Given the description of an element on the screen output the (x, y) to click on. 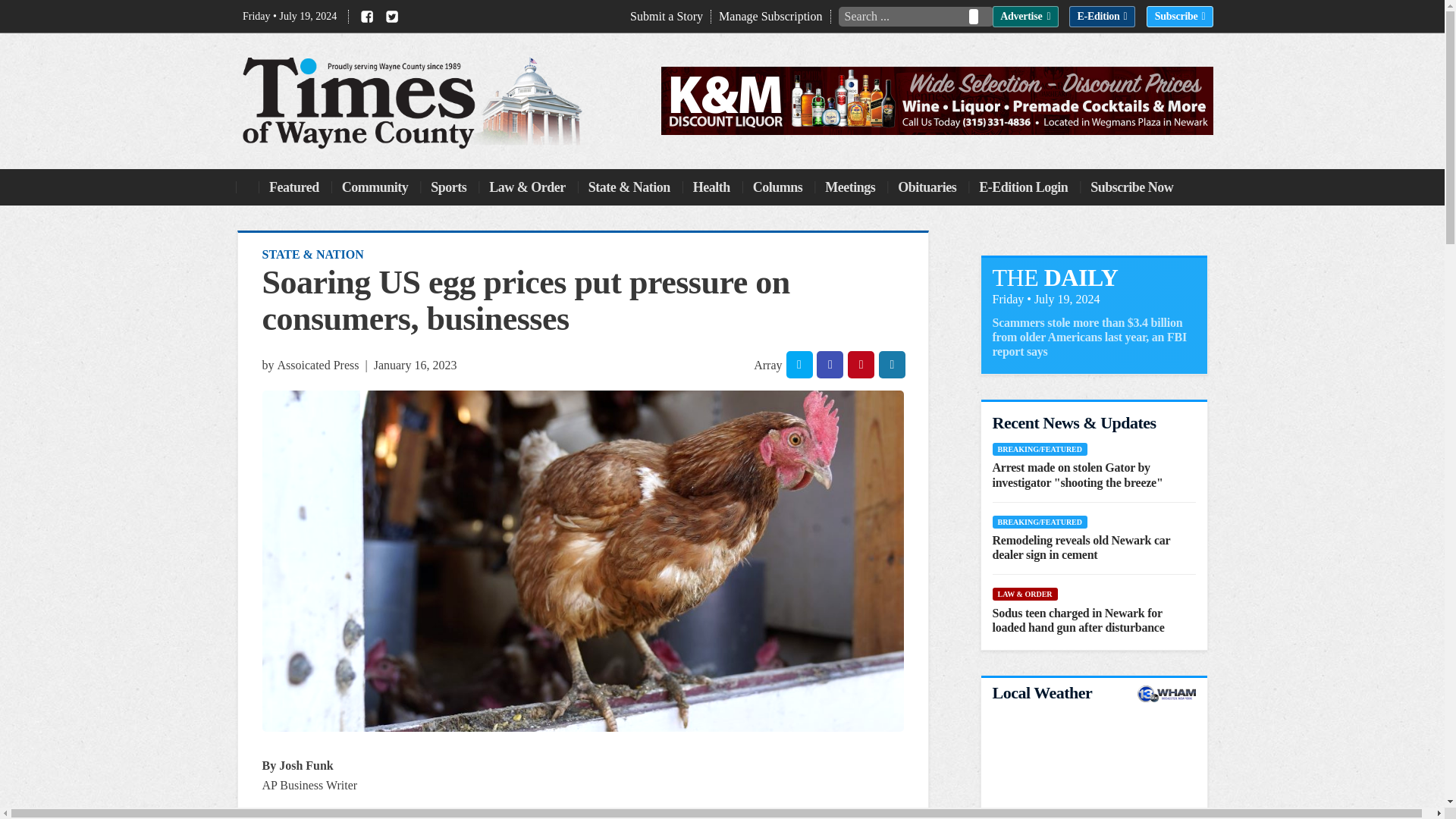
Columns (777, 187)
Meetings (850, 187)
Obituaries (927, 187)
Subscribe (1179, 16)
Community (375, 187)
E-Edition (1101, 16)
Sports (447, 187)
E-Edition Login (1022, 187)
Featured (293, 187)
Health (711, 187)
Manage Subscription (774, 16)
Subscribe Now (1131, 187)
Submit a Story (670, 16)
Advertise (1025, 16)
